Given the description of an element on the screen output the (x, y) to click on. 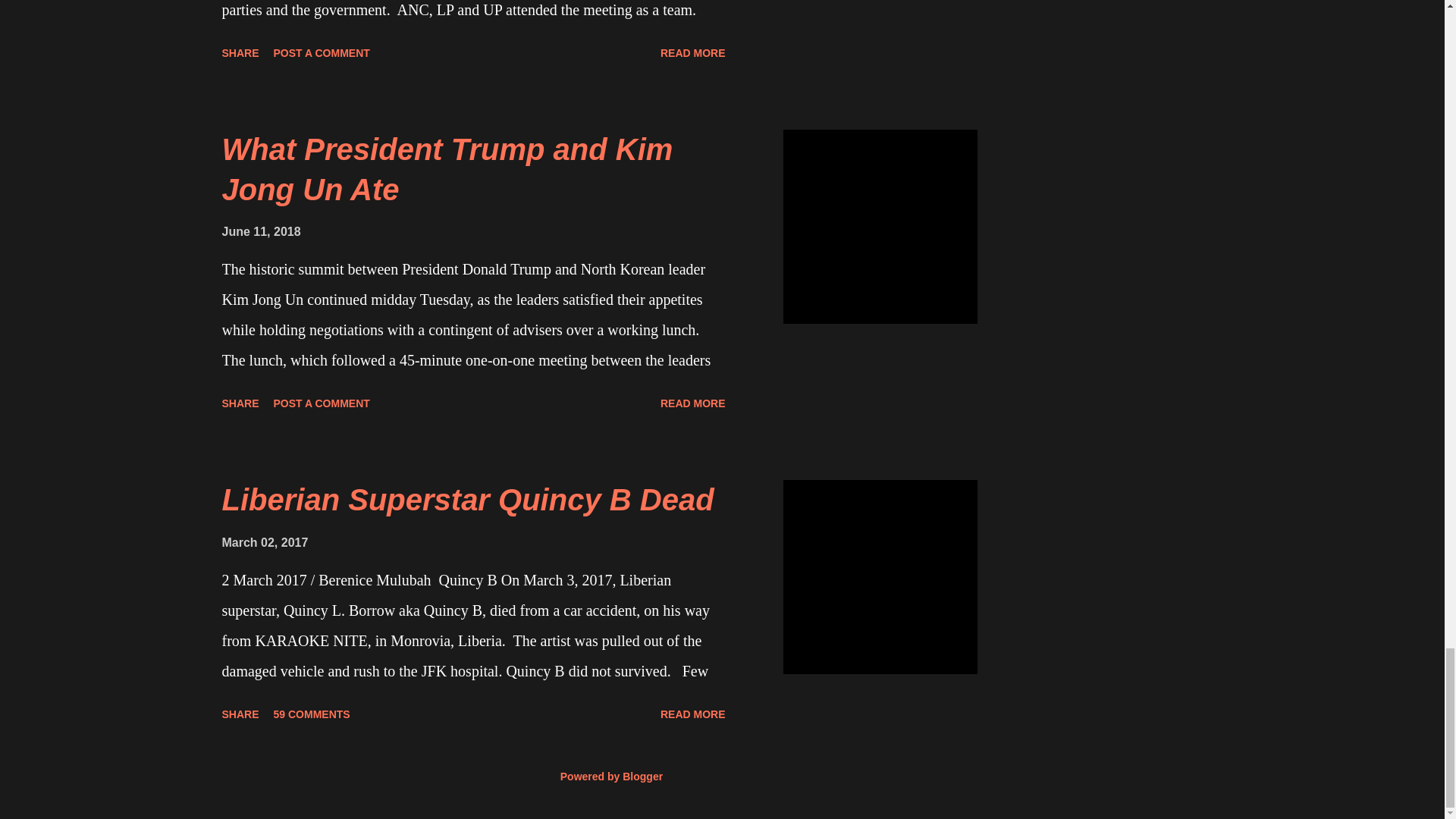
SHARE (239, 52)
POST A COMMENT (321, 403)
READ MORE (692, 52)
READ MORE (692, 713)
59 COMMENTS (311, 713)
June 11, 2018 (260, 231)
SHARE (239, 403)
March 02, 2017 (264, 542)
What President Trump and Kim Jong Un Ate (446, 169)
POST A COMMENT (321, 52)
SHARE (239, 713)
Liberian Superstar Quincy B Dead (467, 499)
READ MORE (692, 403)
